Given the description of an element on the screen output the (x, y) to click on. 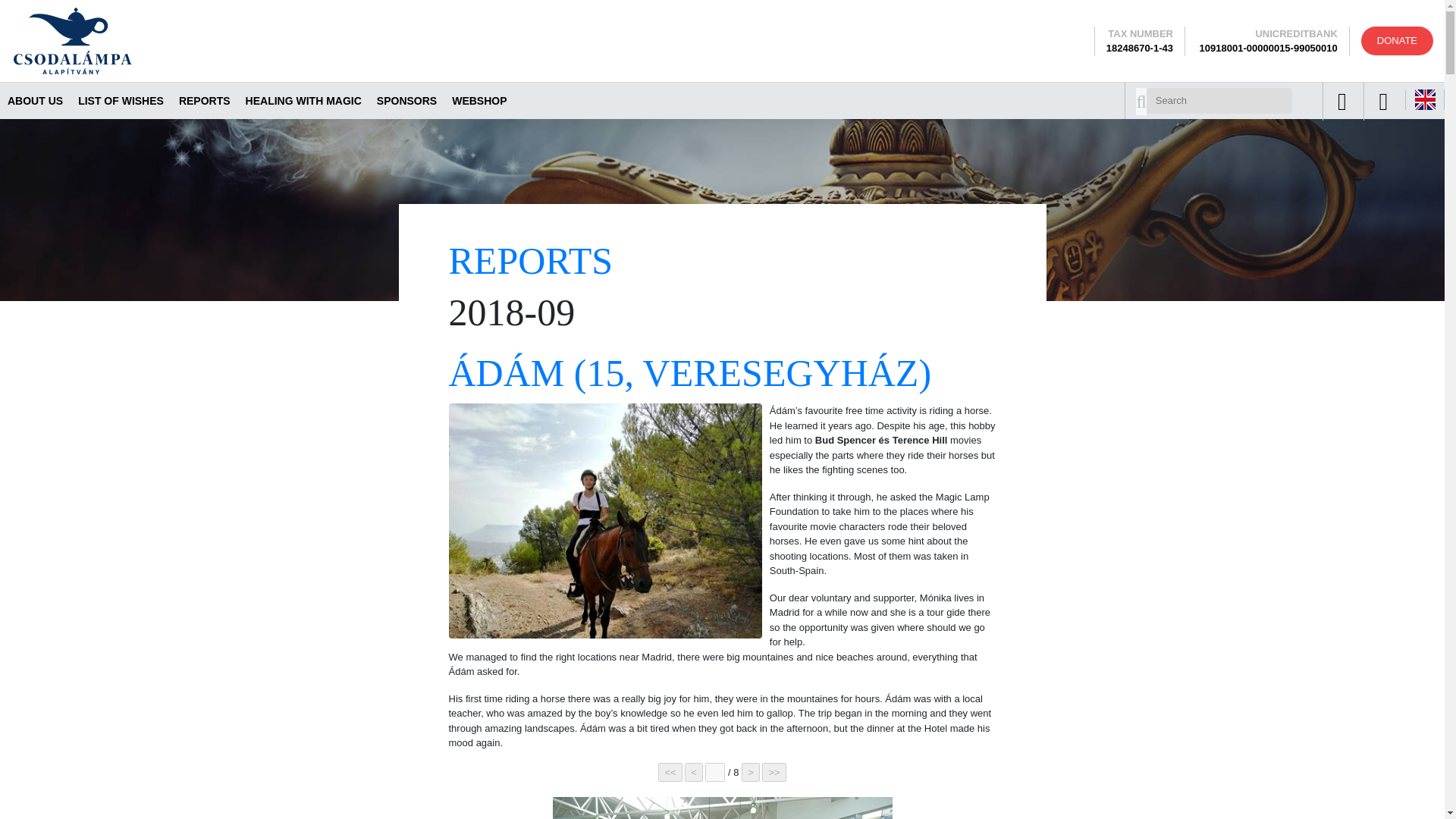
SPONSORS (406, 100)
HEALING WITH MAGIC (303, 100)
WEBSHOP (478, 100)
REPORTS (204, 100)
DONATE (1396, 40)
REPORTS (530, 260)
LIST OF WISHES (120, 100)
FACEBOOK (1342, 101)
ABOUT US (34, 100)
YOUTUBE (1383, 101)
